Given the description of an element on the screen output the (x, y) to click on. 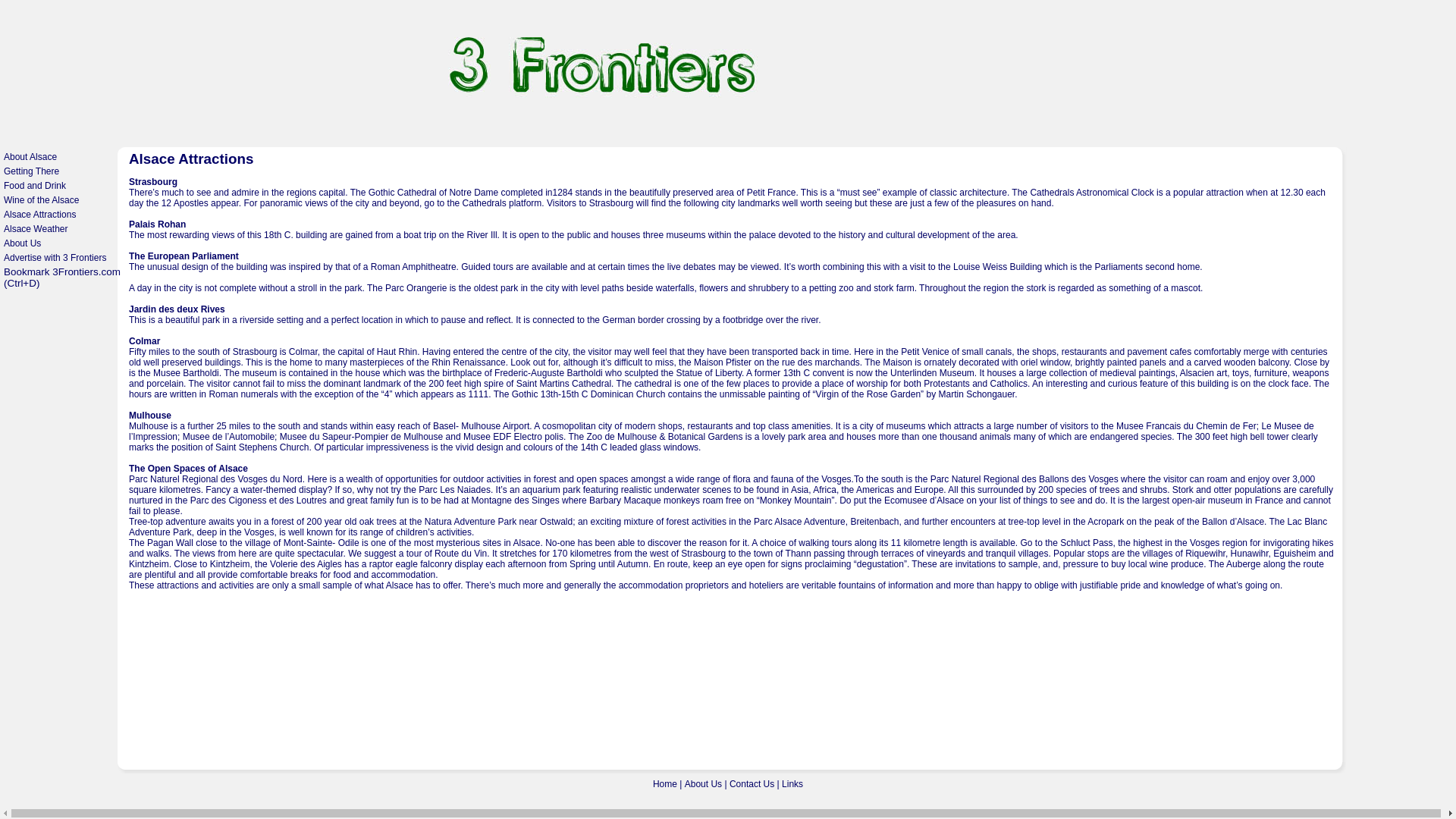
Home Element type: text (664, 783)
Wine of the Alsace Element type: text (40, 199)
Advertise with 3 Frontiers Element type: text (54, 257)
Contact Us Element type: text (751, 783)
Alsace Weather Element type: text (35, 228)
About Alsace Element type: text (29, 156)
Food and Drink Element type: text (34, 185)
Links Element type: text (792, 783)
About Us Element type: text (21, 243)
About Us Element type: text (702, 783)
Alsace Attractions Element type: text (39, 214)
Getting There Element type: text (31, 171)
